Given the description of an element on the screen output the (x, y) to click on. 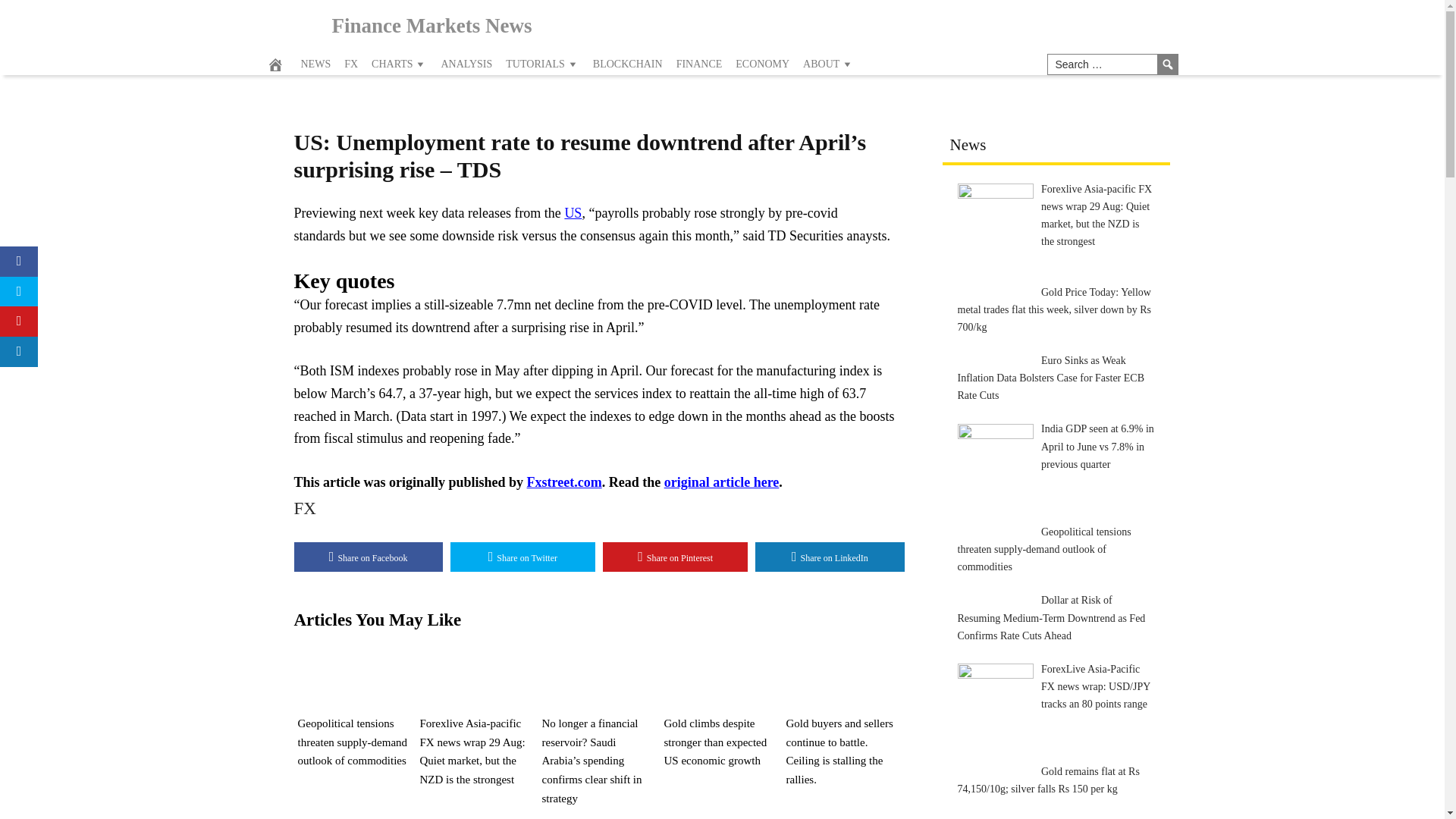
NEWS (315, 64)
CHARTS (399, 64)
FX (351, 64)
Finance Markets News (431, 25)
FX (304, 507)
